Given the description of an element on the screen output the (x, y) to click on. 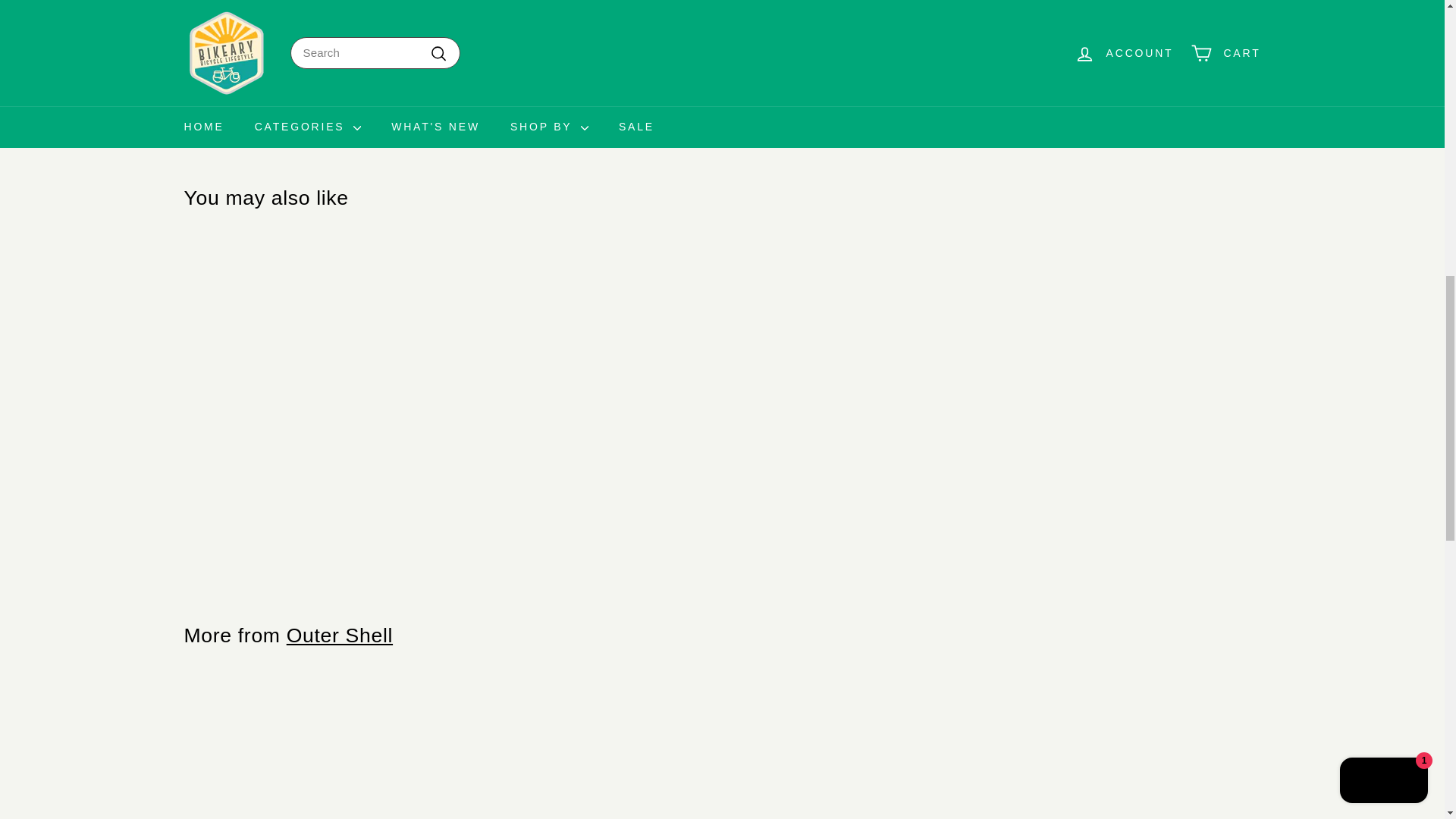
Outer Shell (339, 635)
